Given the description of an element on the screen output the (x, y) to click on. 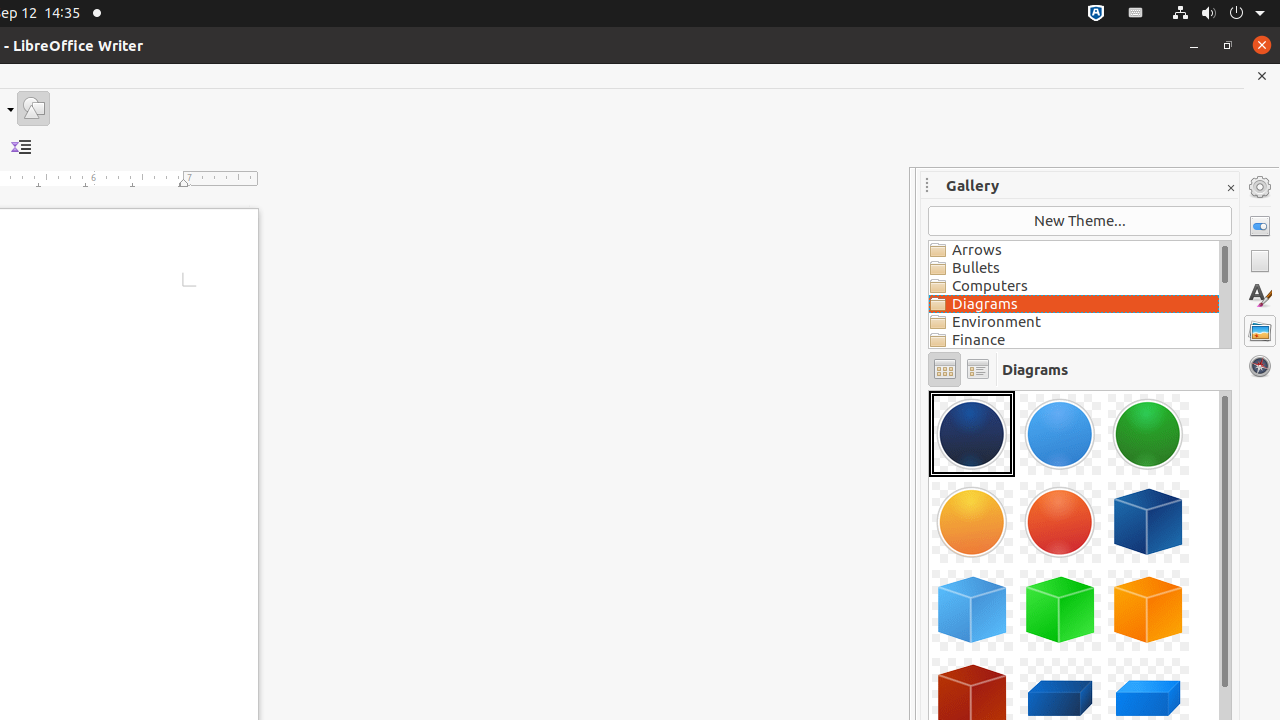
New Theme Element type: push-button (1080, 221)
